Given the description of an element on the screen output the (x, y) to click on. 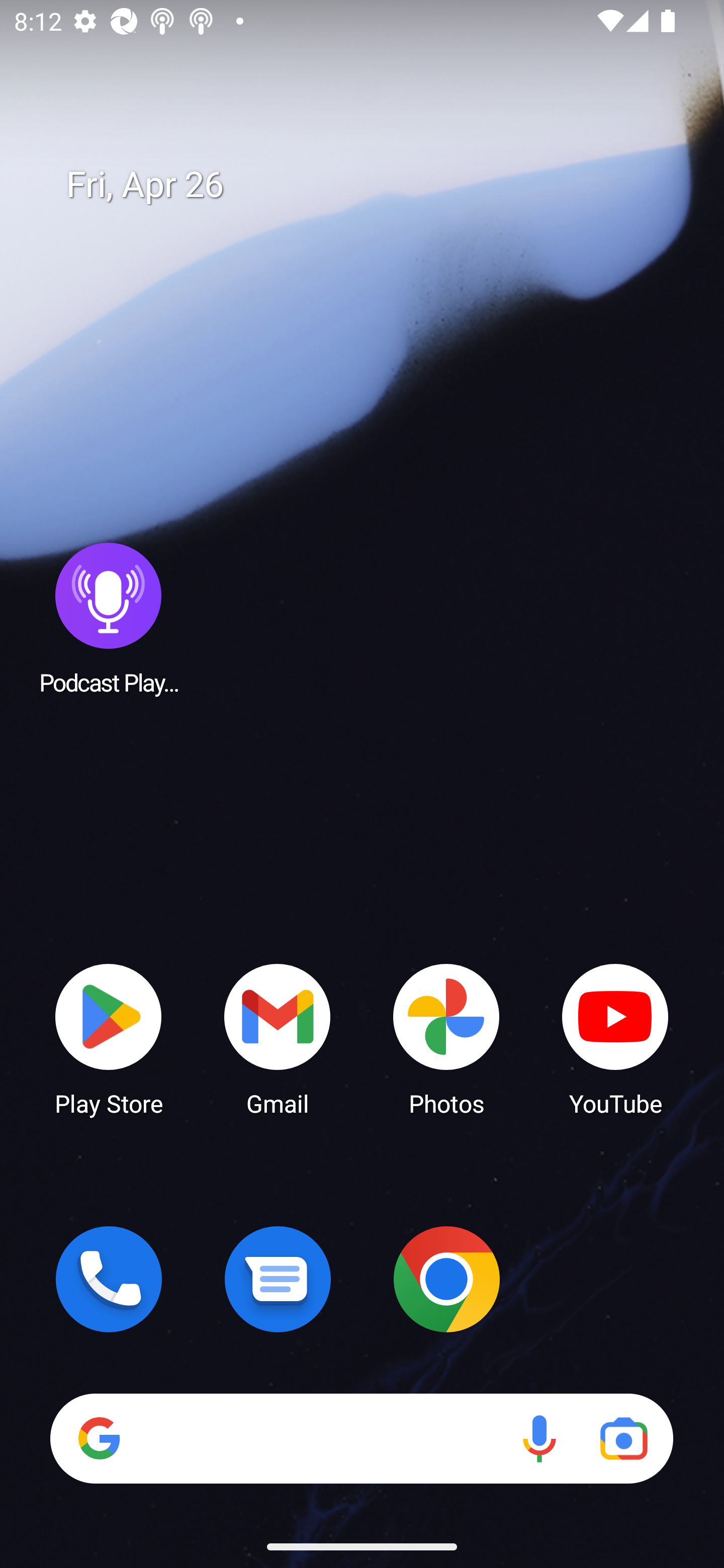
Fri, Apr 26 (375, 184)
Podcast Player (108, 617)
Play Store (108, 1038)
Gmail (277, 1038)
Photos (445, 1038)
YouTube (615, 1038)
Phone (108, 1279)
Messages (277, 1279)
Chrome (446, 1279)
Search Voice search Google Lens (361, 1438)
Voice search (539, 1438)
Google Lens (623, 1438)
